Given the description of an element on the screen output the (x, y) to click on. 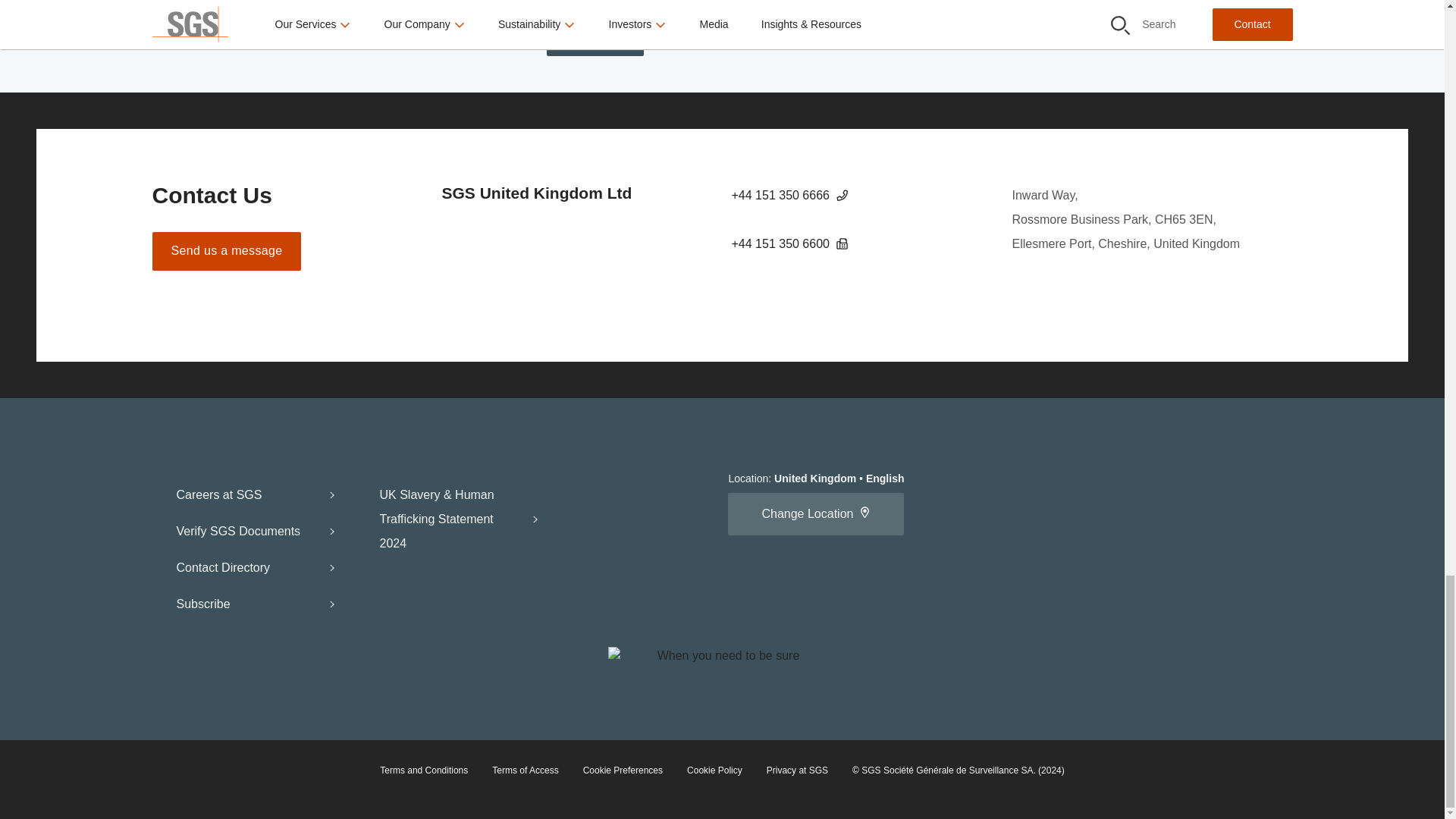
View all (595, 36)
Change Location (816, 514)
Subscribe (256, 604)
Terms of Access (524, 769)
Verify SGS Documents (256, 531)
Cookie Preferences (622, 769)
Cookie Policy (714, 769)
Contact Directory (256, 567)
Send us a message (226, 251)
Terms and Conditions (423, 769)
Careers at SGS (256, 494)
Privacy at SGS (797, 769)
